Given the description of an element on the screen output the (x, y) to click on. 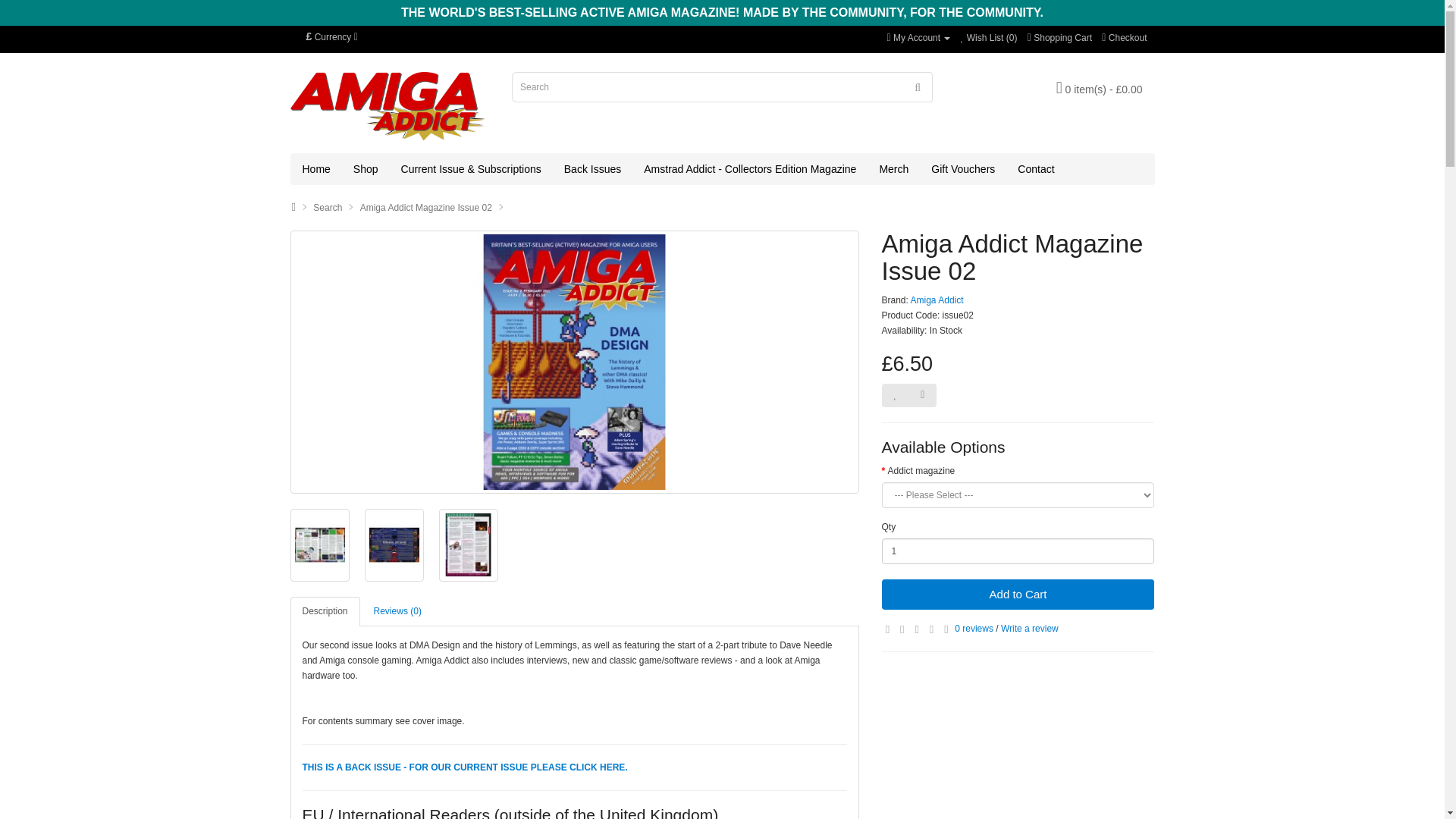
Description (324, 611)
Shopping Cart (1059, 37)
Contact Amiga Addict (1035, 168)
Amstrad Addict - Collectors Edition Magazine (749, 168)
Shop (366, 168)
Merch (893, 168)
Home (316, 168)
Amiga Addict shop (366, 168)
Checkout (1124, 37)
Gift Vouchers (963, 168)
1 (1017, 551)
Amiga Addict magazine (316, 168)
Checkout (1124, 37)
